Given the description of an element on the screen output the (x, y) to click on. 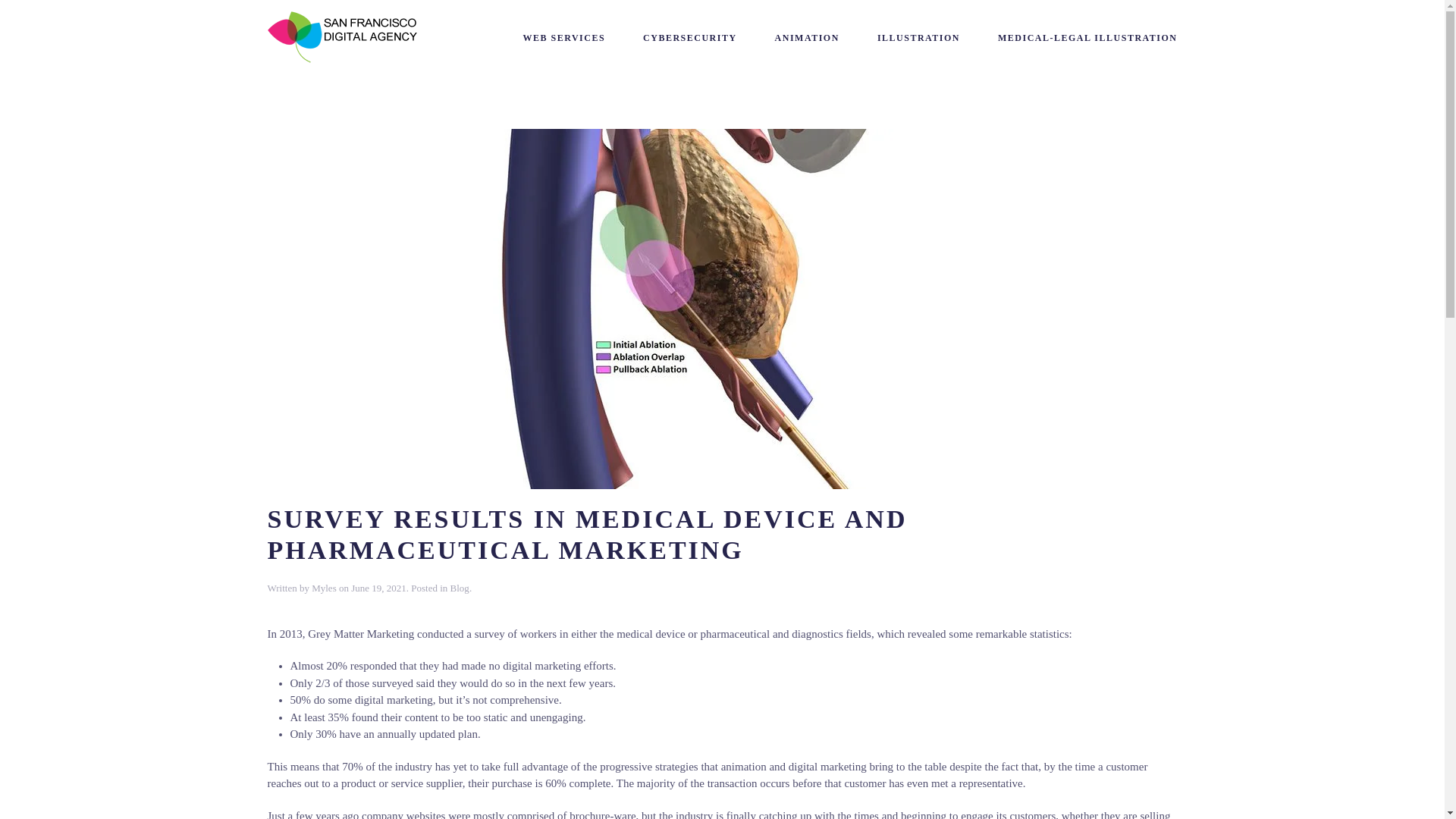
WEB SERVICES (563, 38)
CYBERSECURITY (689, 38)
ILLUSTRATION (918, 38)
Myles (323, 587)
Blog (458, 587)
MEDICAL-LEGAL ILLUSTRATION (1086, 38)
